Given the description of an element on the screen output the (x, y) to click on. 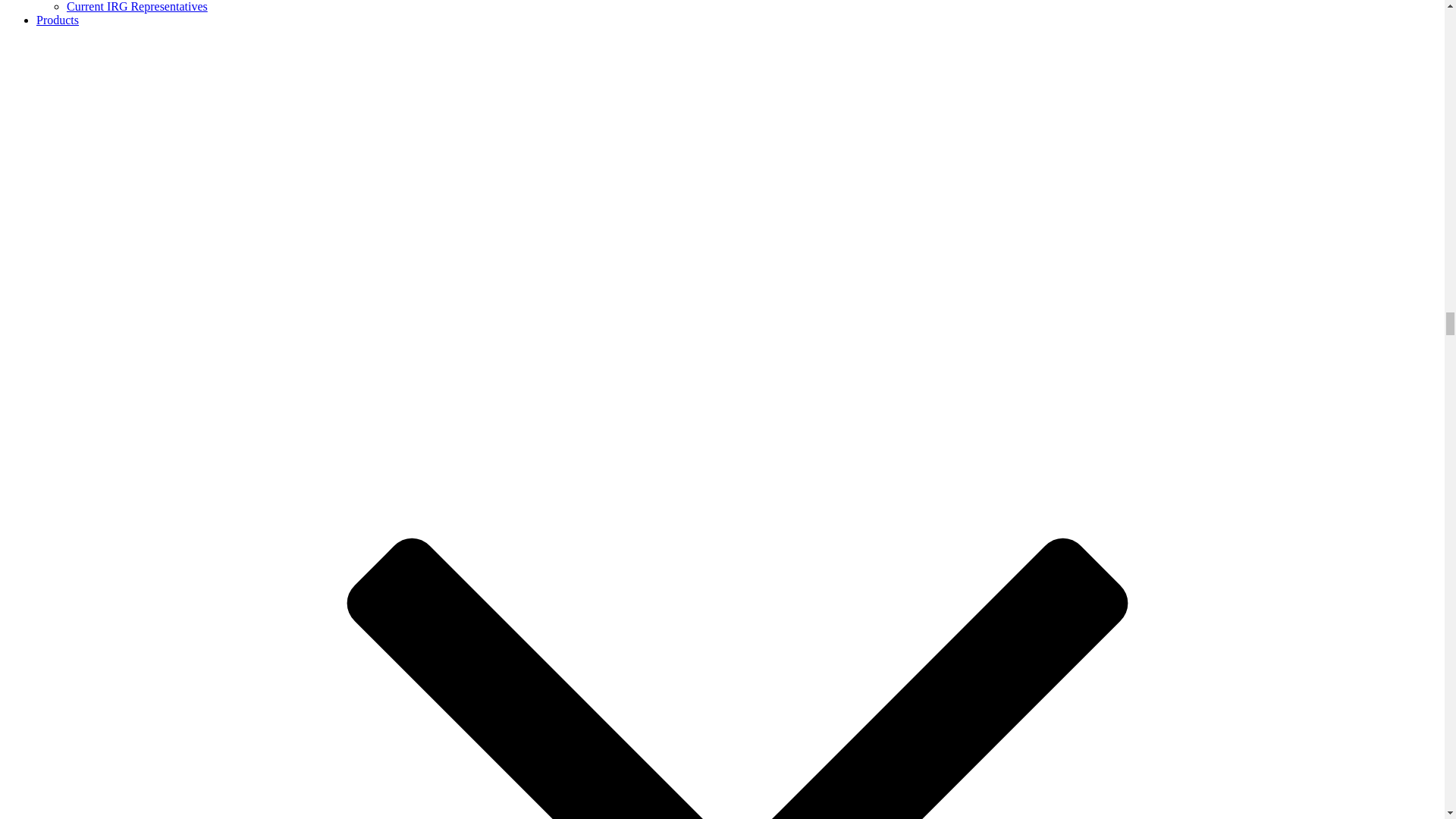
Current IRG Representatives (137, 6)
